Given the description of an element on the screen output the (x, y) to click on. 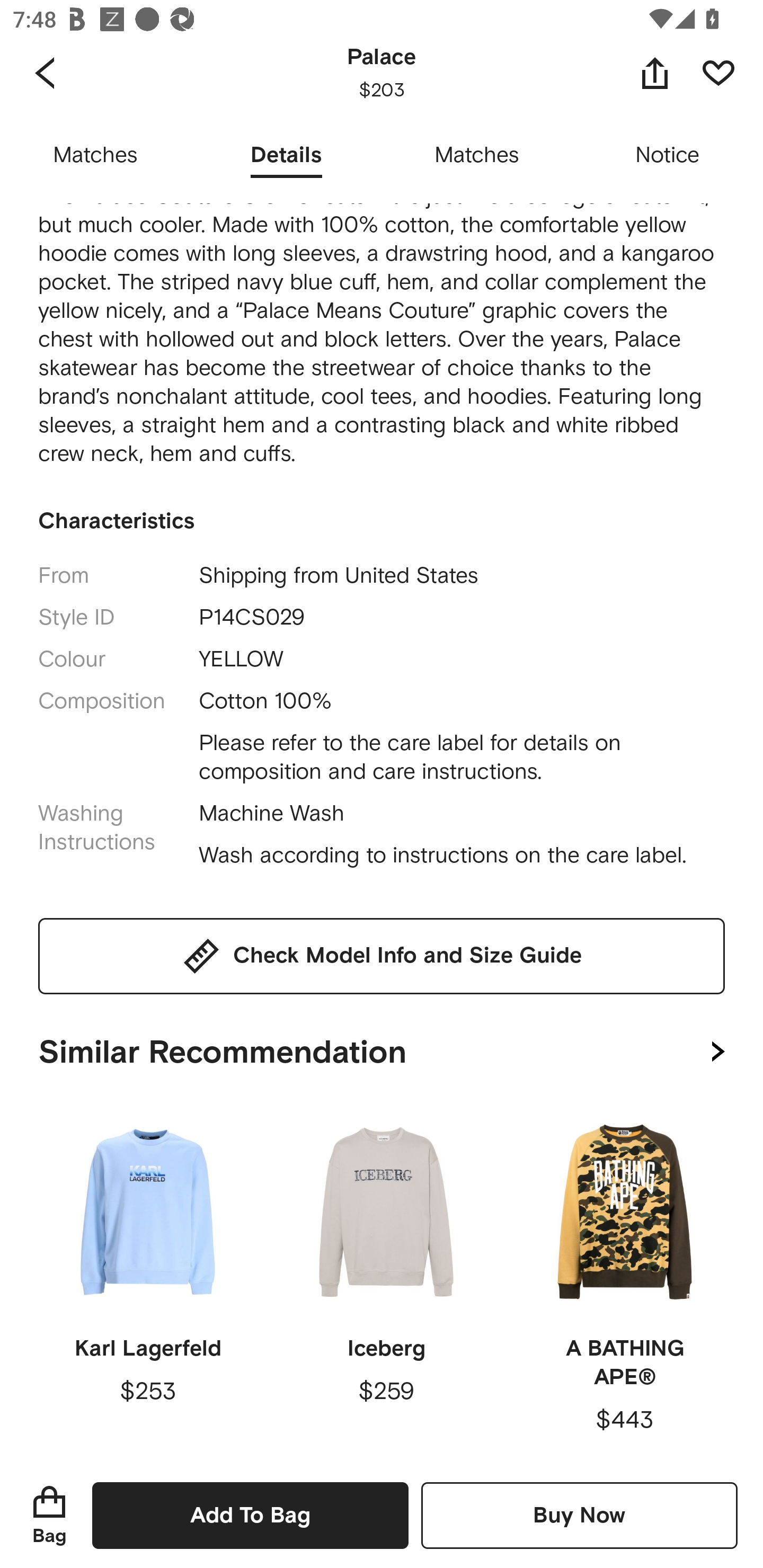
Matches (95, 155)
Matches (476, 155)
Notice (667, 155)
 Check Model Info and Size Guide (381, 955)
Similar Recommendation (381, 1048)
Karl Lagerfeld $253 (147, 1282)
Iceberg $259 (385, 1282)
A BATHING APE® $443 (624, 1282)
Bag (49, 1515)
Add To Bag (250, 1515)
Buy Now (579, 1515)
